Given the description of an element on the screen output the (x, y) to click on. 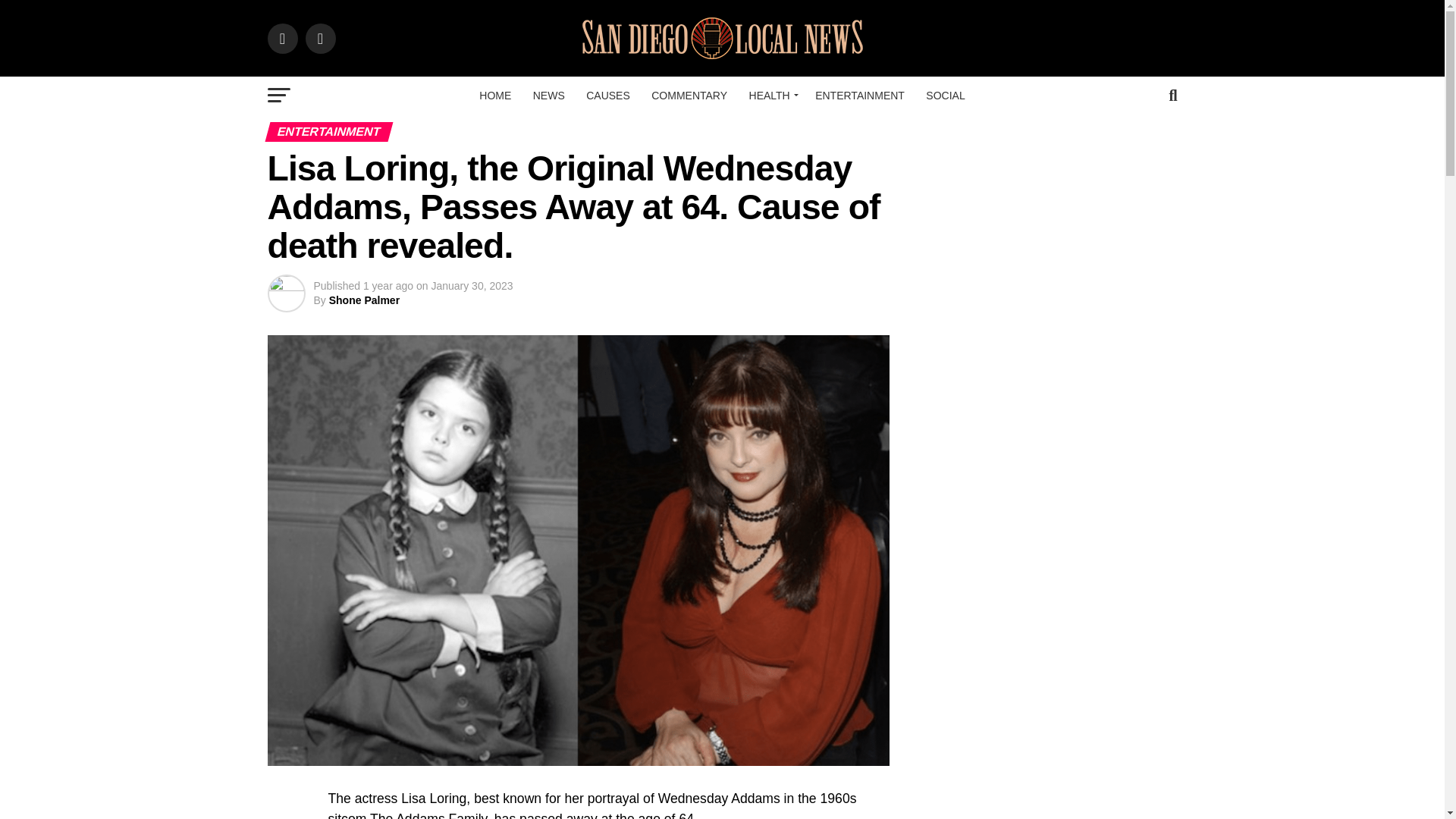
HEALTH (771, 95)
Shone Palmer (363, 300)
ENTERTAINMENT (860, 95)
HOME (494, 95)
CAUSES (607, 95)
NEWS (548, 95)
SOCIAL (945, 95)
COMMENTARY (689, 95)
Posts by Shone Palmer (363, 300)
